Given the description of an element on the screen output the (x, y) to click on. 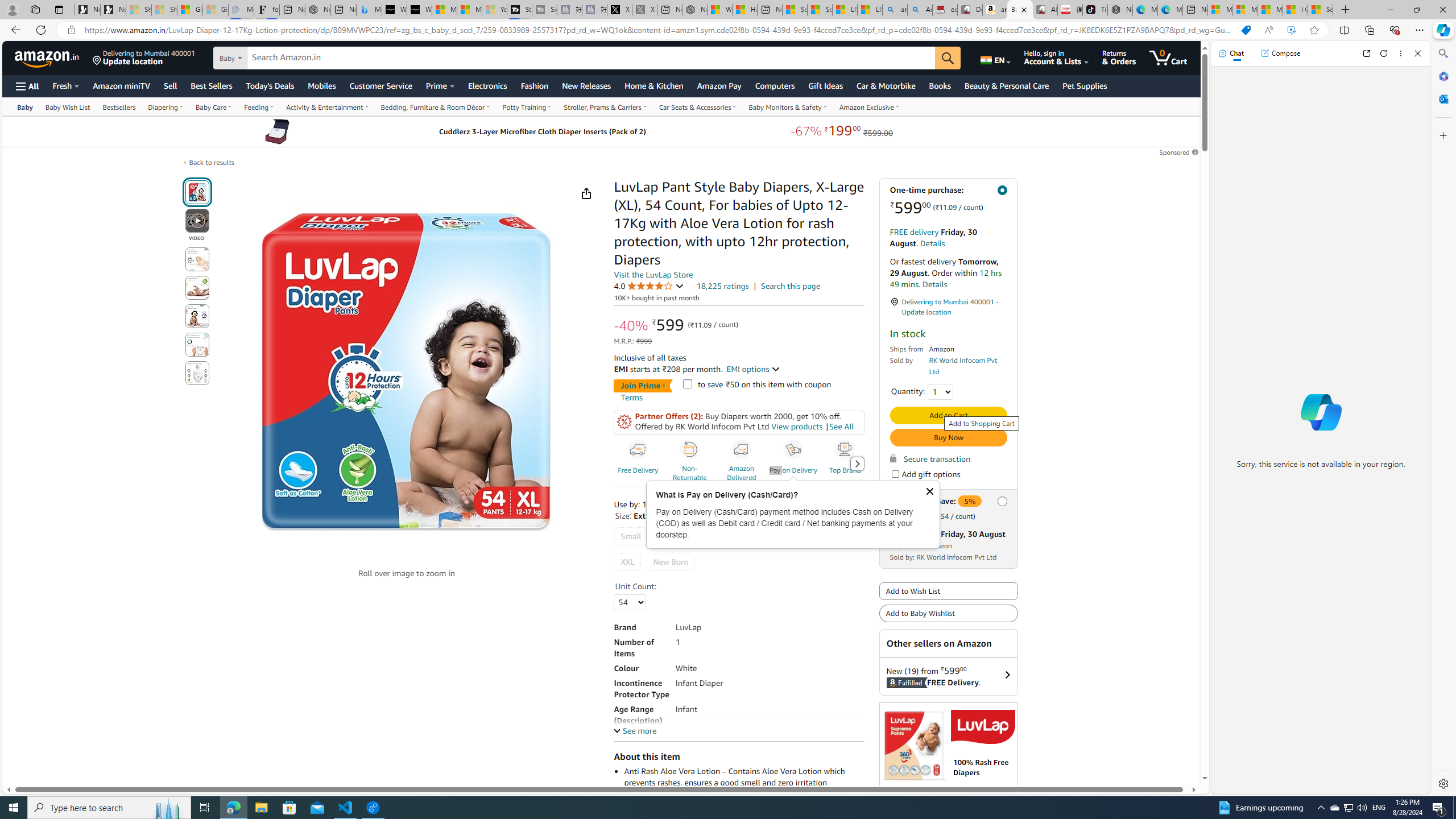
Settings (1442, 783)
What's the best AI voice generator? - voice.ai (418, 9)
App bar (728, 29)
Microsoft account | Privacy (1244, 9)
Microsoft Start Sports (443, 9)
X - Sleeping (644, 9)
